Given the description of an element on the screen output the (x, y) to click on. 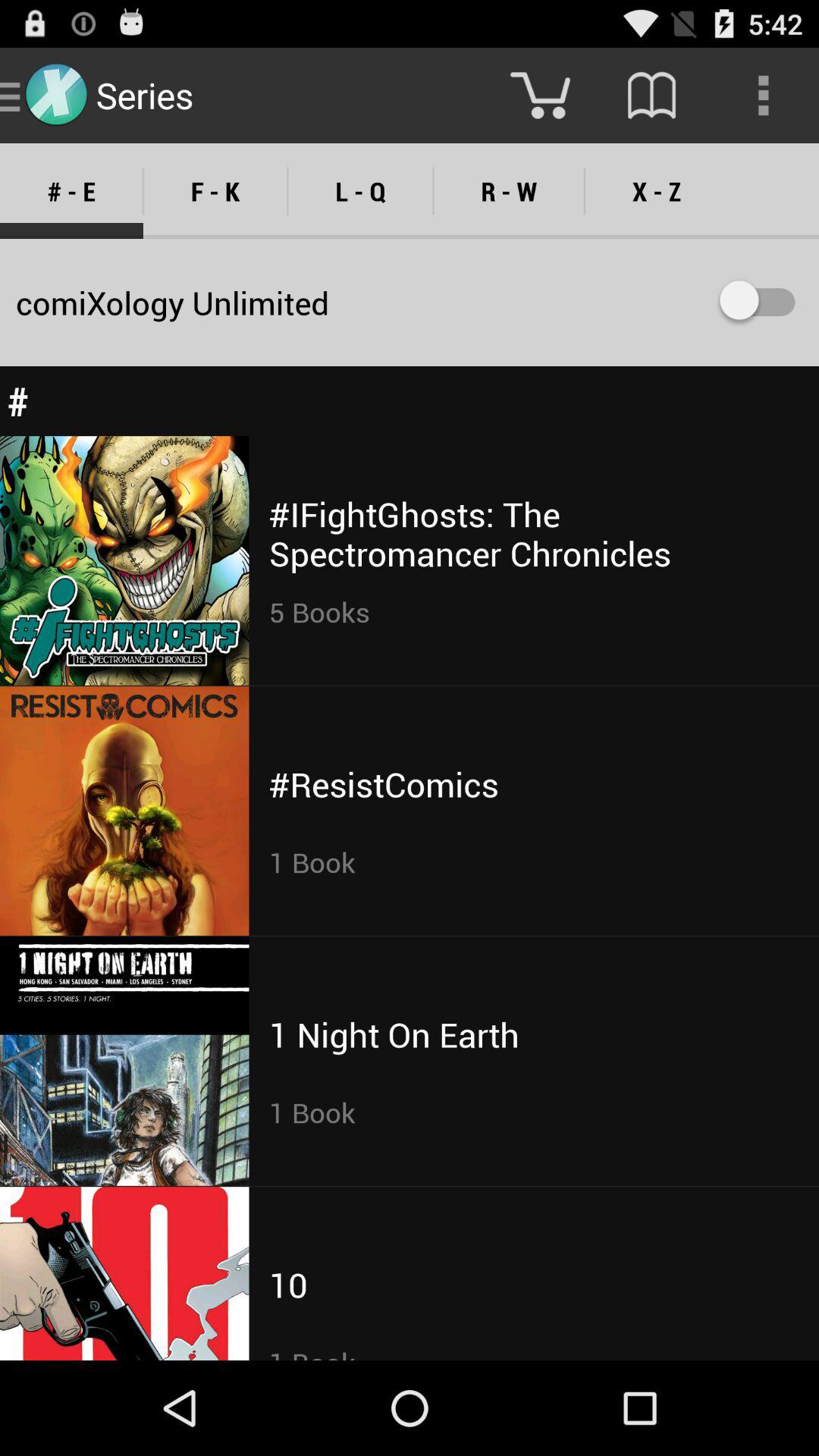
select item above comixology unlimited icon (360, 190)
